Given the description of an element on the screen output the (x, y) to click on. 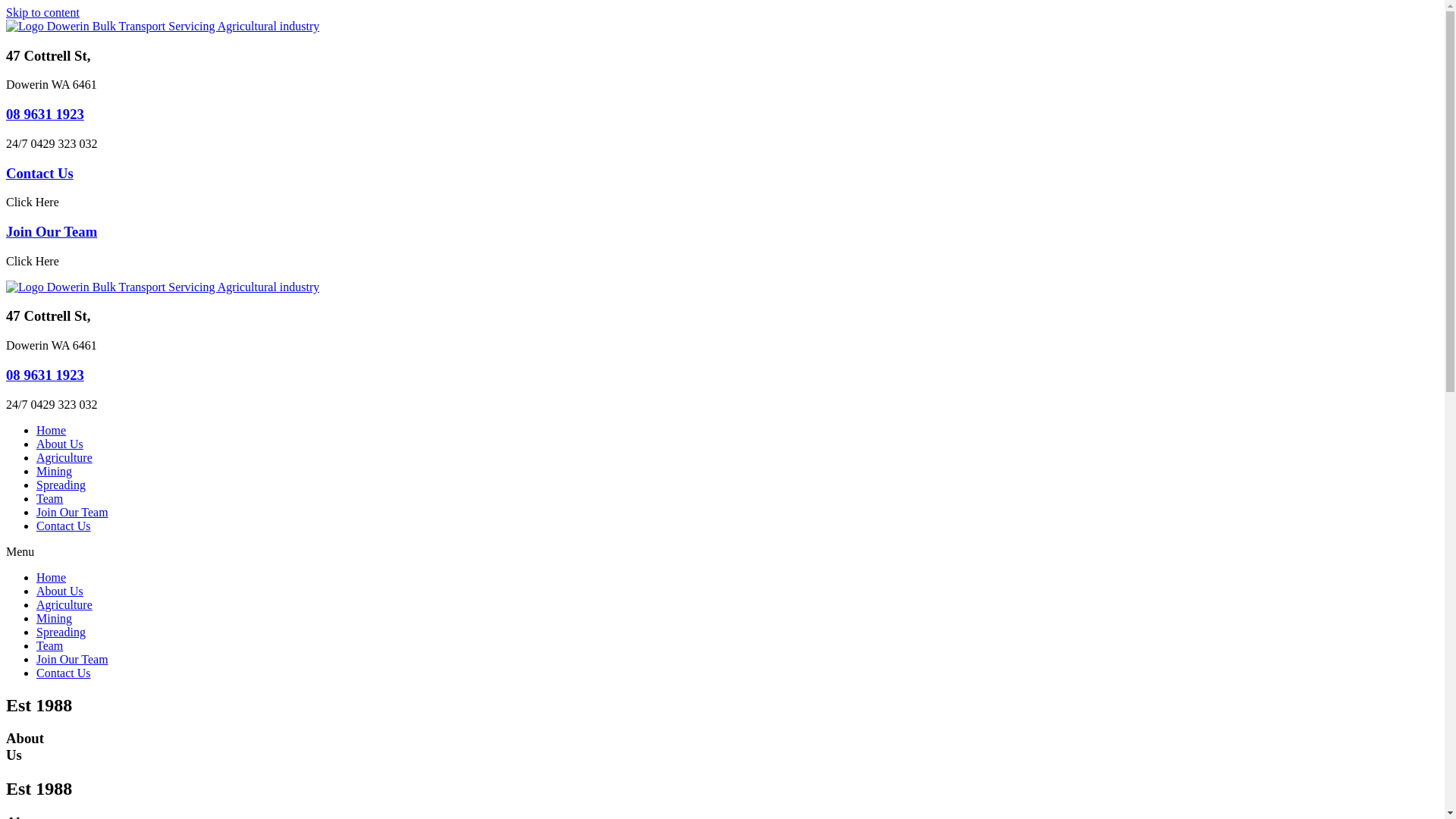
Contact Us Element type: text (63, 525)
Skip to content Element type: text (42, 12)
About Us Element type: text (59, 590)
08 9631 1923 Element type: text (45, 374)
Team Element type: text (49, 498)
Agriculture Element type: text (64, 604)
Mining Element type: text (54, 617)
Home Element type: text (50, 429)
Home Element type: text (50, 577)
Contact Us Element type: text (39, 173)
Spreading Element type: text (60, 484)
Team Element type: text (49, 645)
08 9631 1923 Element type: text (45, 114)
Spreading Element type: text (60, 631)
Join Our Team Element type: text (51, 231)
Agriculture Element type: text (64, 457)
Join Our Team Element type: text (72, 511)
About Us Element type: text (59, 443)
Join Our Team Element type: text (72, 658)
Contact Us Element type: text (63, 672)
Mining Element type: text (54, 470)
